Given the description of an element on the screen output the (x, y) to click on. 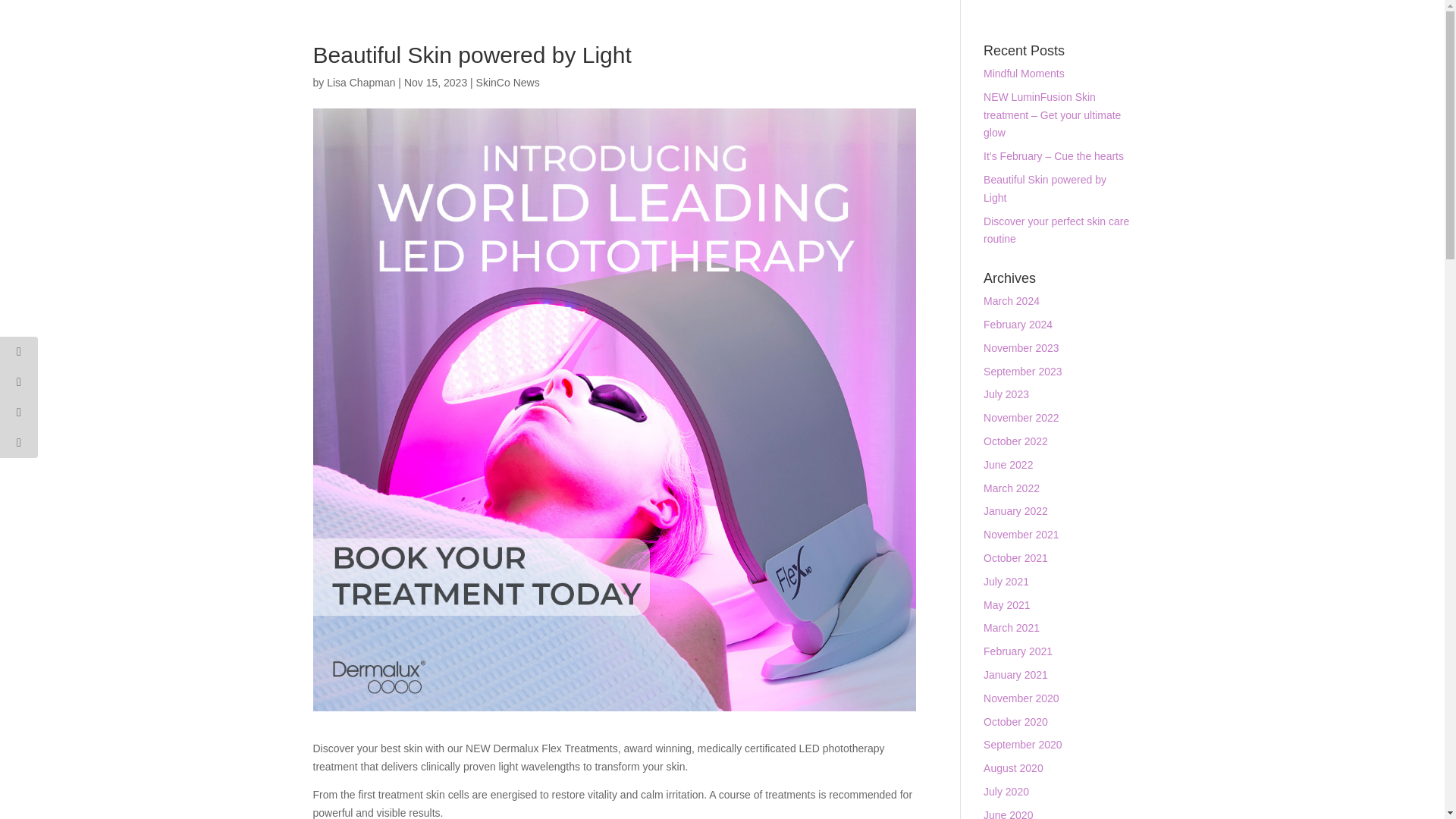
Mindful Moments (1024, 73)
November 2021 (1021, 534)
November 2023 (1021, 347)
Lisa Chapman (360, 82)
January 2022 (1016, 510)
May 2021 (1006, 604)
March 2022 (1011, 488)
Posts by Lisa Chapman (360, 82)
January 2021 (1016, 674)
March 2024 (1011, 300)
September 2023 (1023, 371)
June 2022 (1008, 464)
SkinCo News (508, 82)
March 2021 (1011, 627)
July 2021 (1006, 581)
